Given the description of an element on the screen output the (x, y) to click on. 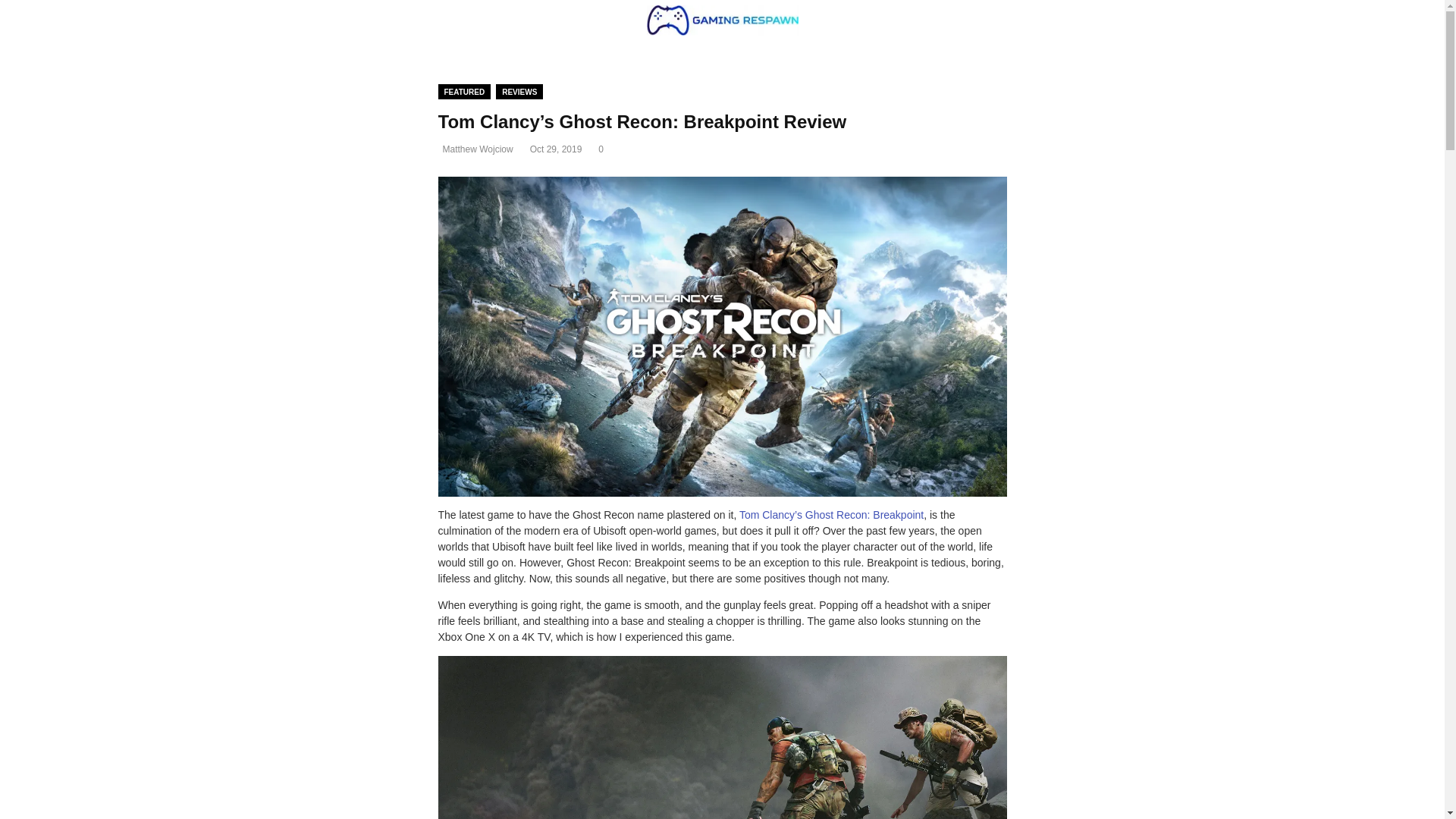
REVIEWS (519, 91)
FEATURED (465, 91)
Oct 29, 2019 (555, 149)
Matthew Wojciow (477, 149)
